Given the description of an element on the screen output the (x, y) to click on. 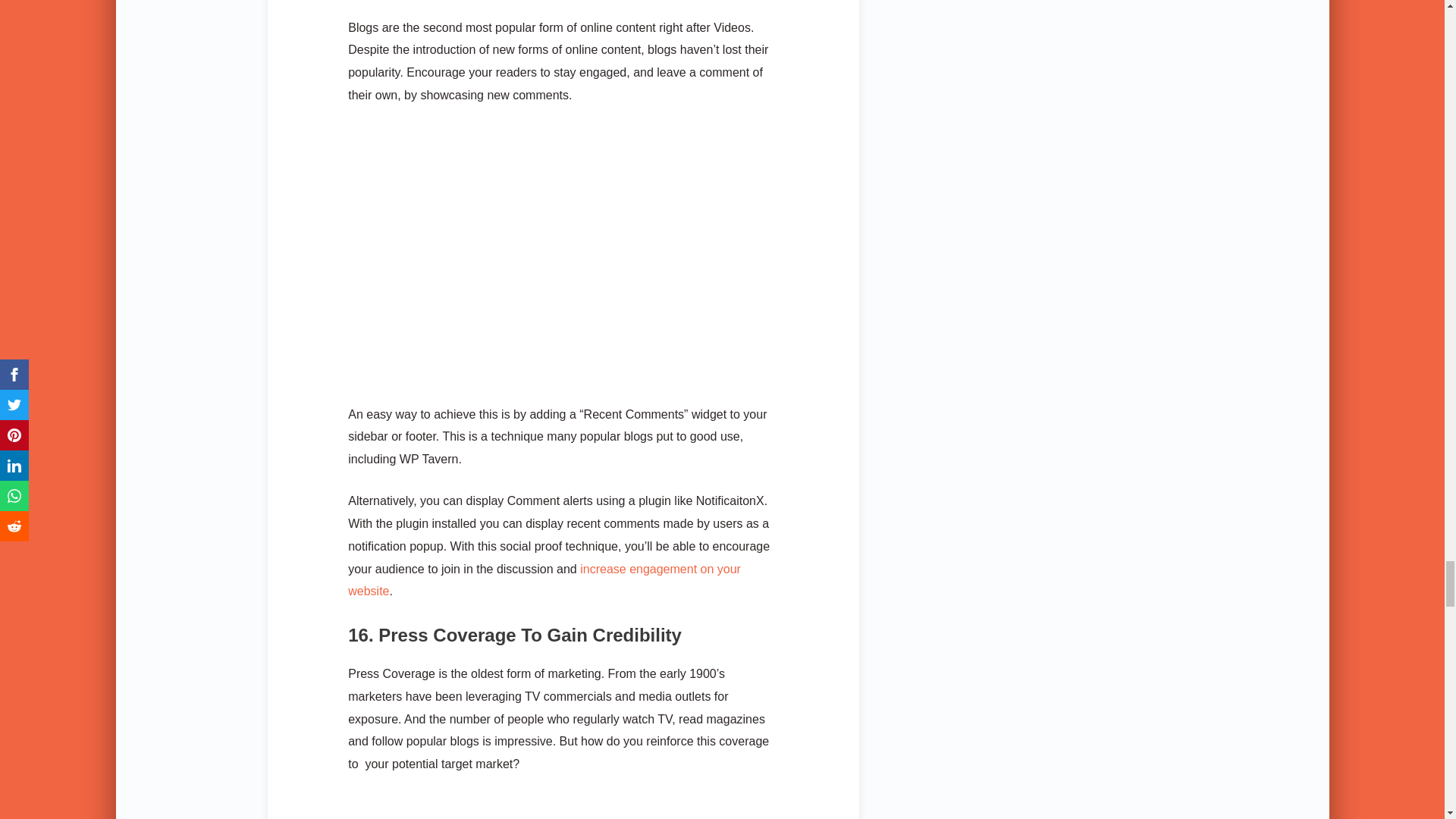
increase engagement on your website (544, 580)
